Given the description of an element on the screen output the (x, y) to click on. 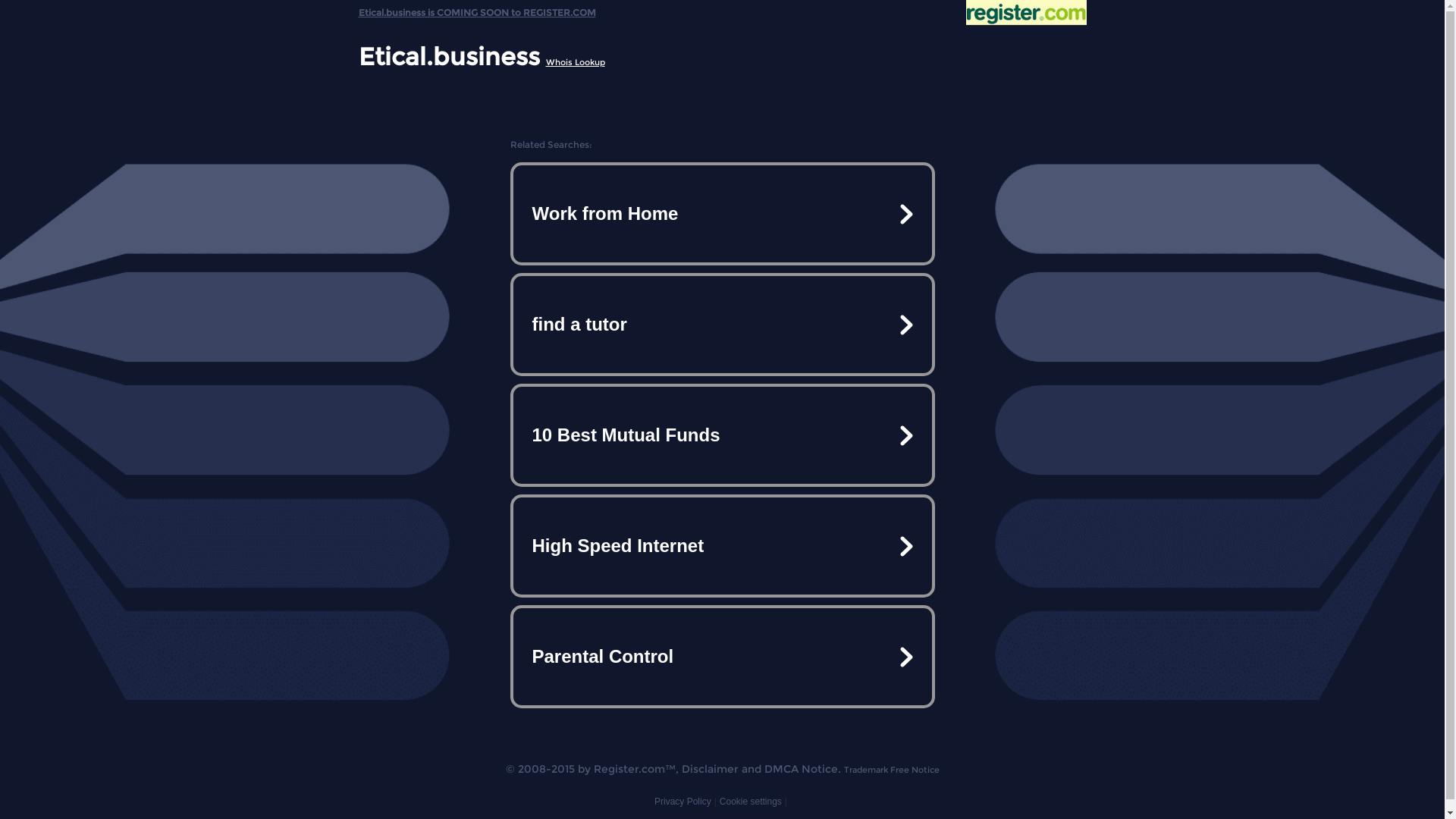
10 Best Mutual Funds Element type: text (721, 434)
Trademark Free Notice Element type: text (890, 769)
Work from Home Element type: text (721, 213)
Parental Control Element type: text (721, 656)
Etical.business Element type: text (448, 56)
Cookie settings Element type: text (750, 801)
Privacy Policy Element type: text (682, 801)
High Speed Internet Element type: text (721, 545)
Etical.business is COMING SOON to REGISTER.COM Element type: text (476, 9)
Whois Lookup Element type: text (575, 61)
find a tutor Element type: text (721, 324)
